Given the description of an element on the screen output the (x, y) to click on. 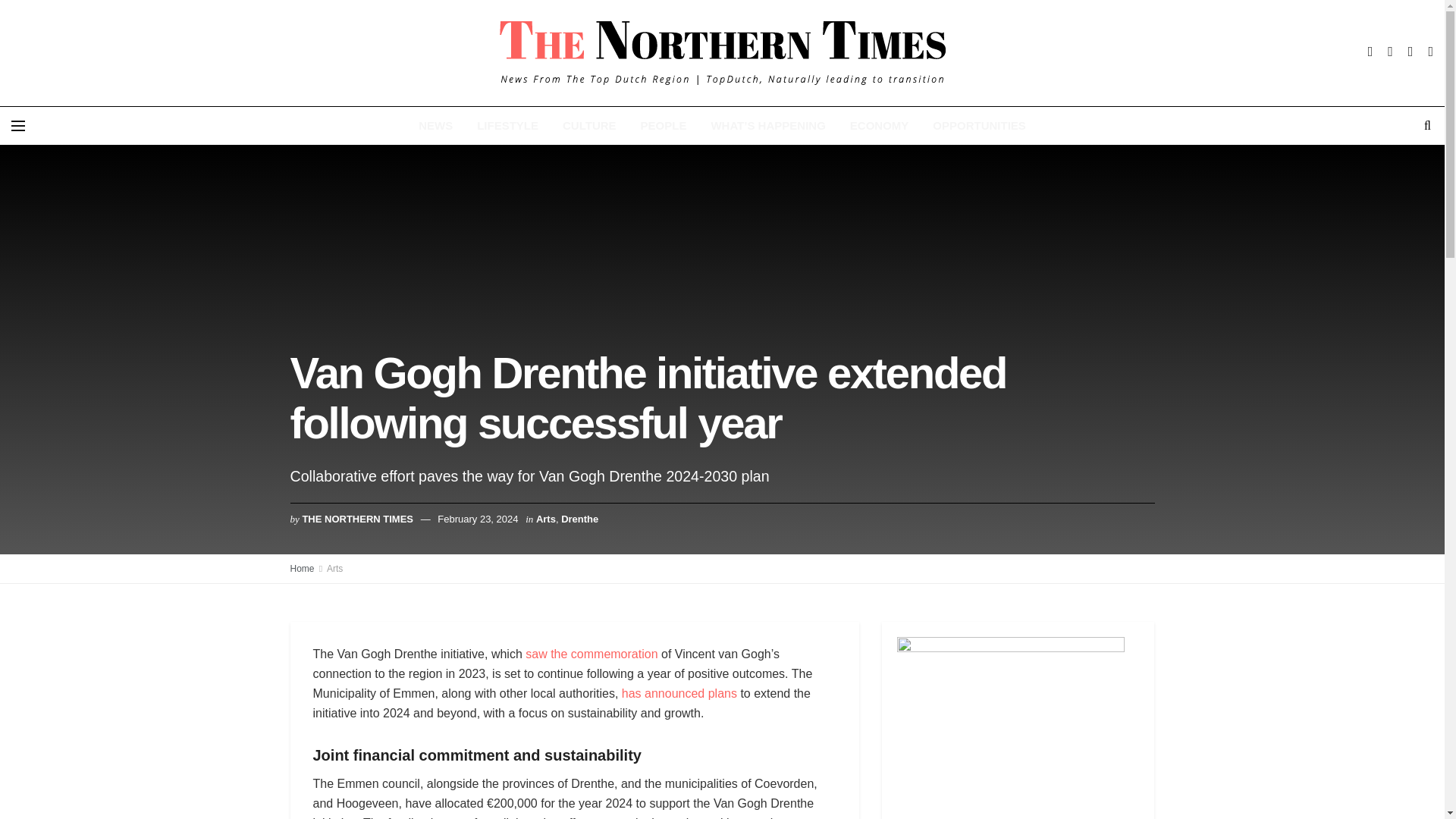
Arts (545, 518)
PEOPLE (663, 125)
Home (301, 568)
saw the commemoration (591, 653)
THE NORTHERN TIMES (357, 518)
has announced plans (678, 693)
CULTURE (589, 125)
Arts (334, 568)
February 23, 2024 (478, 518)
Drenthe (579, 518)
